Given the description of an element on the screen output the (x, y) to click on. 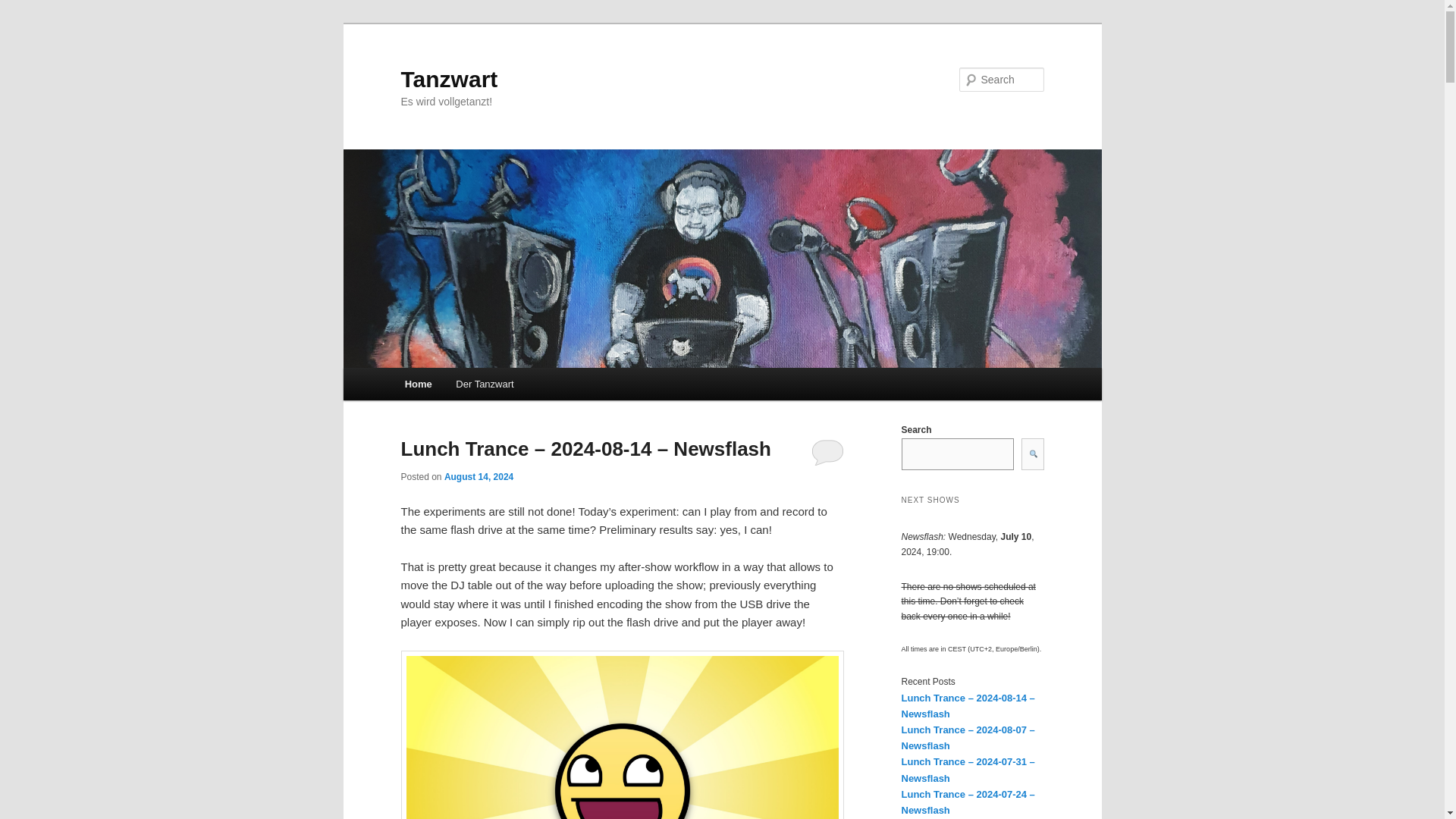
Home (418, 383)
Der Tanzwart (484, 383)
Tanzwart (448, 78)
August 14, 2024 (478, 476)
19:00 (478, 476)
Search (24, 8)
